Given the description of an element on the screen output the (x, y) to click on. 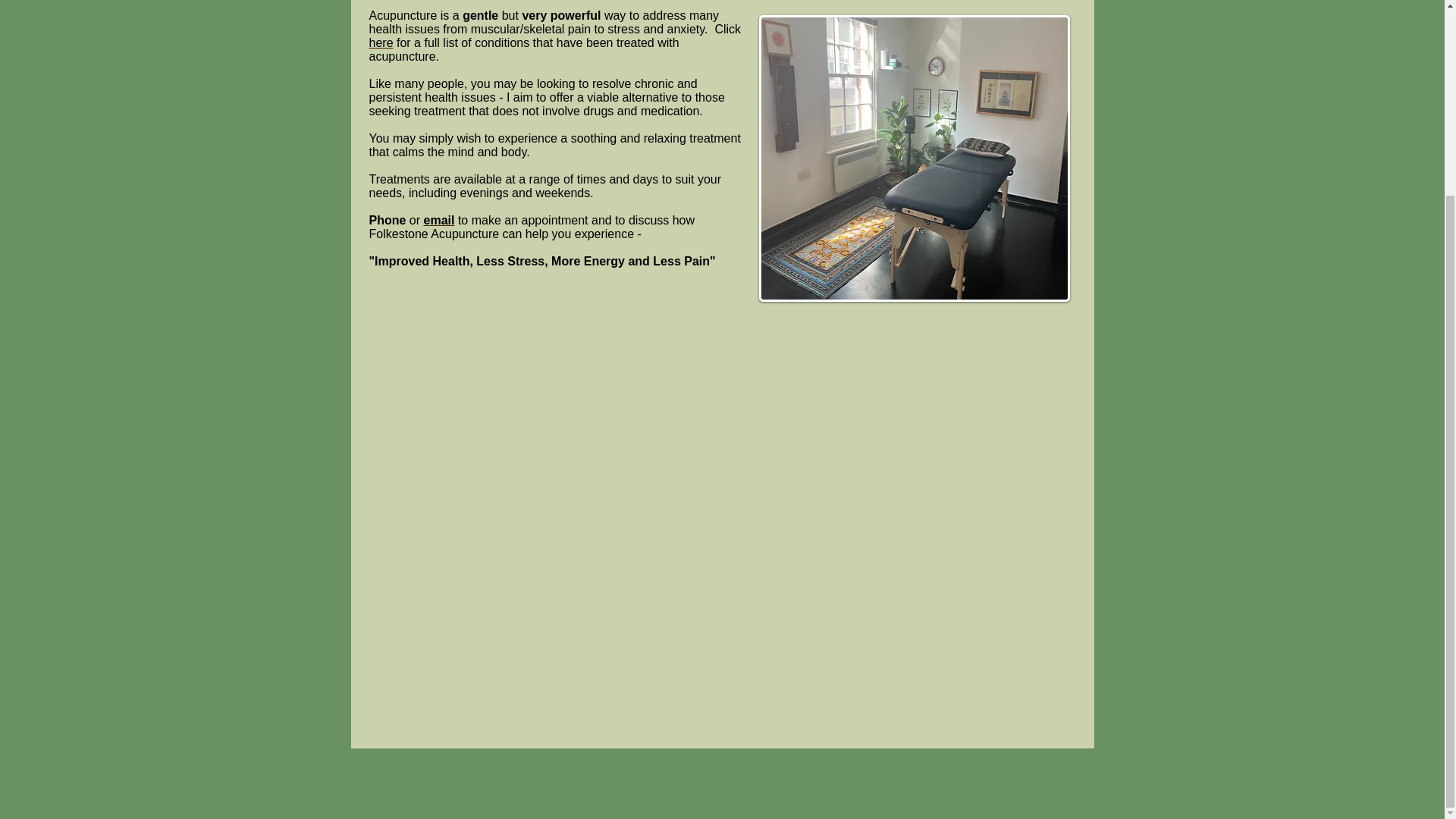
email (438, 219)
here (380, 42)
